Given the description of an element on the screen output the (x, y) to click on. 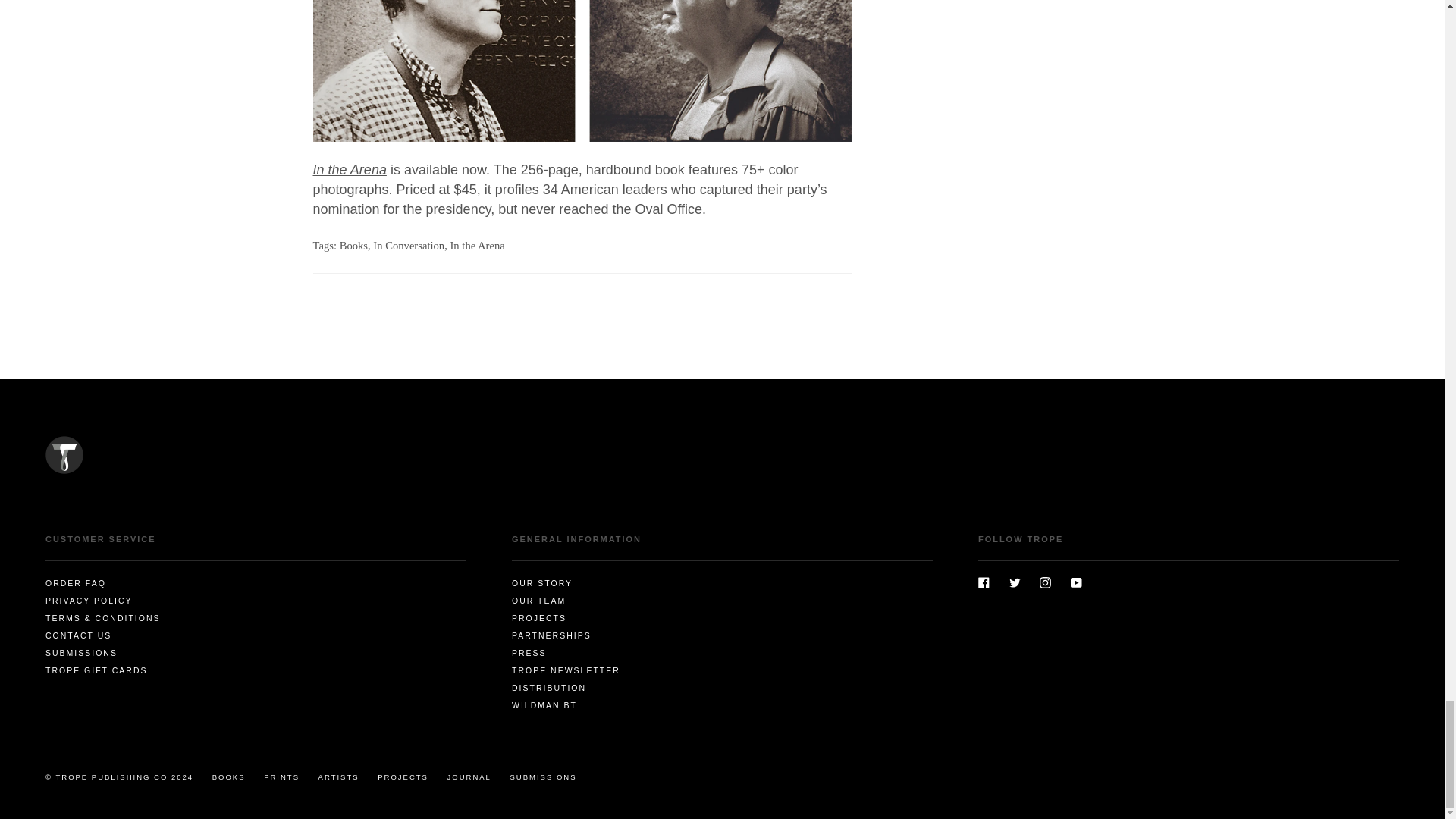
In Conversation (408, 245)
Trope Journal tagged In the Arena (476, 245)
In the Arena (349, 169)
Books (353, 245)
Trope Journal tagged In Conversation (408, 245)
Trope Publishing Co on Facebook (984, 581)
Trope Journal tagged Books (353, 245)
Trope Publishing Co on Instagram (1045, 581)
In the Arena (476, 245)
Trope Publishing Co on YouTube (1075, 581)
Trope Publishing Co on Twitter (1014, 581)
